Given the description of an element on the screen output the (x, y) to click on. 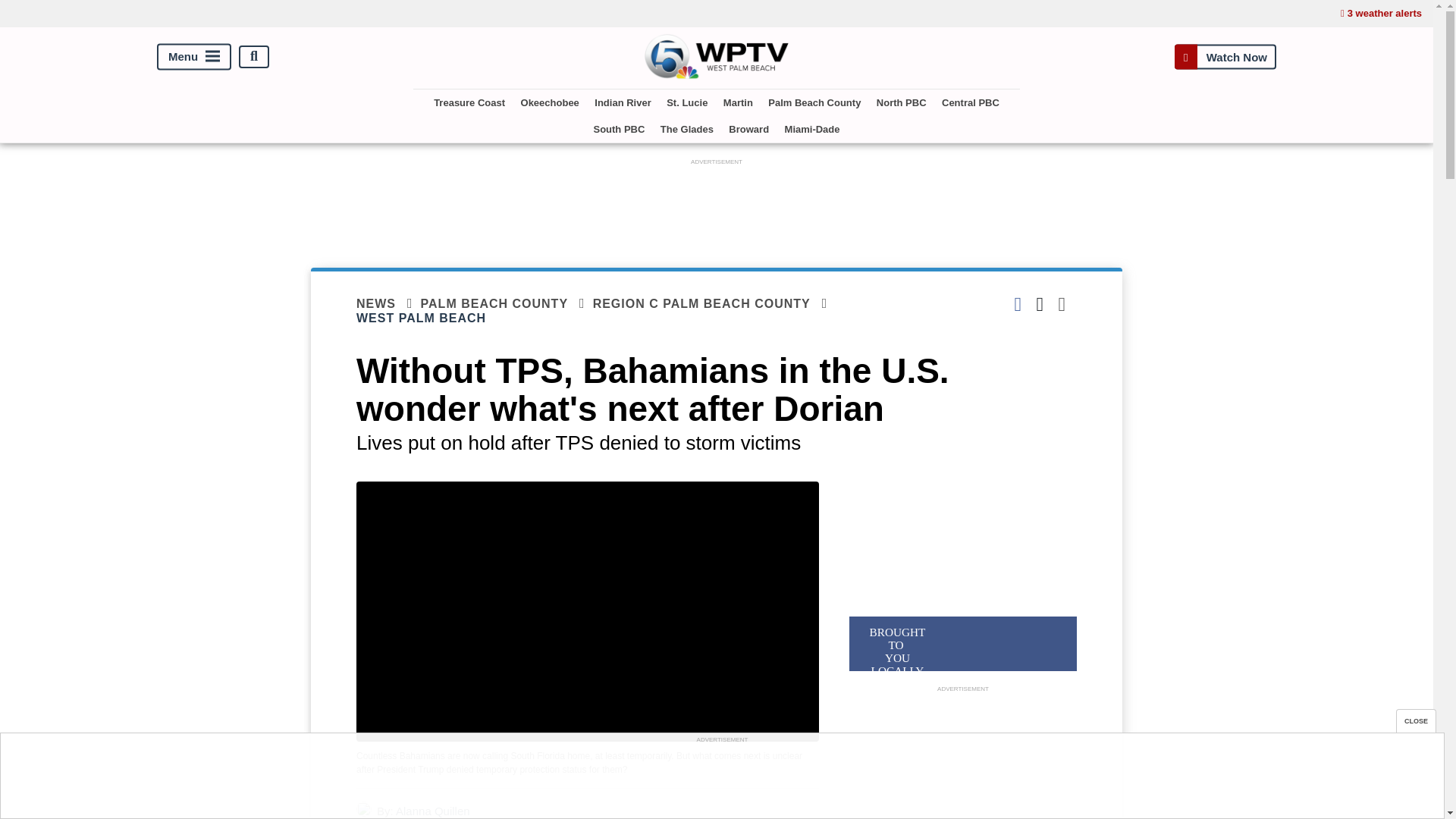
Menu (194, 56)
3rd party ad content (721, 780)
3rd party ad content (962, 757)
Watch Now (1224, 56)
3rd party ad content (716, 202)
